Given the description of an element on the screen output the (x, y) to click on. 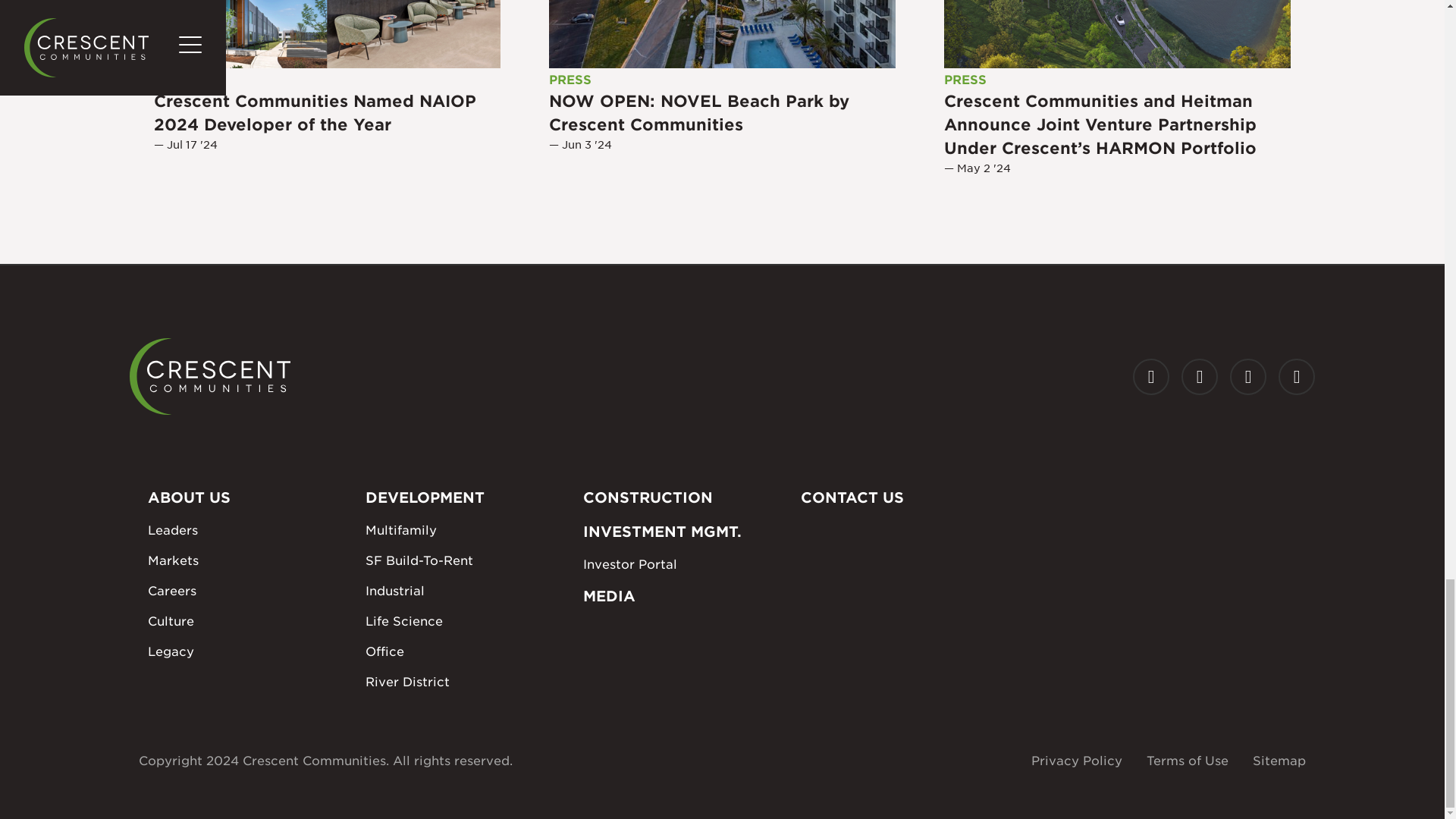
Crescent Communities (209, 376)
Crescent Communities Named NAIOP 2024 Developer of the Year  (327, 33)
Leaders (247, 530)
NOW OPEN: NOVEL Beach Park by Crescent Communities (721, 33)
Careers (247, 591)
ABOUT US (247, 498)
Markets (247, 561)
